Given the description of an element on the screen output the (x, y) to click on. 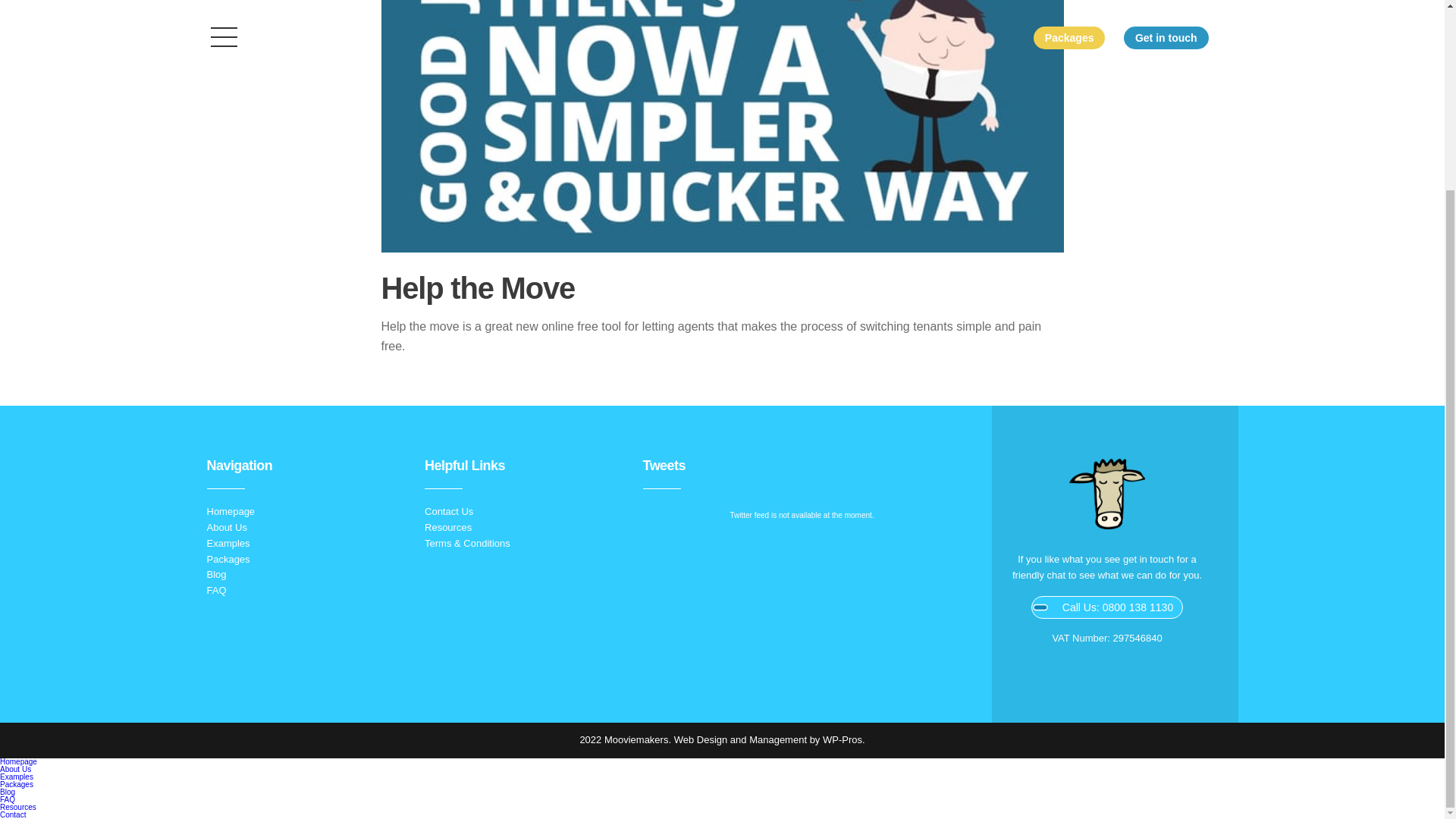
FAQ (7, 799)
Blog (215, 573)
About Us (226, 527)
Homepage (18, 761)
Packages (16, 784)
Resources (448, 527)
Homepage (230, 511)
Resources (18, 807)
Blog (7, 791)
Call Us: 0800 138 1130 (1106, 606)
